Given the description of an element on the screen output the (x, y) to click on. 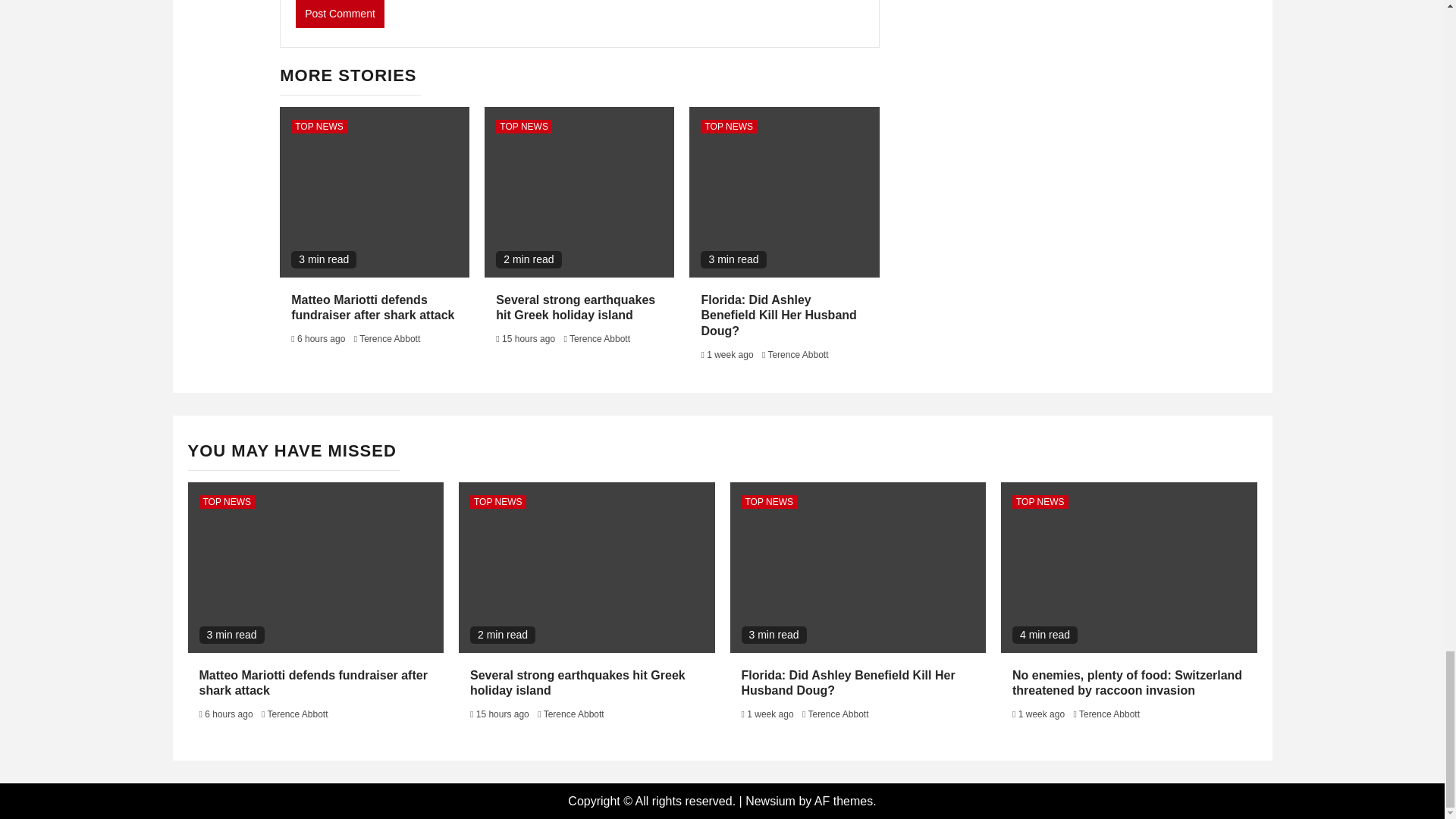
Matteo Mariotti defends fundraiser after shark attack (372, 307)
Post Comment (339, 13)
Post Comment (339, 13)
TOP NEWS (319, 126)
Terence Abbott (389, 338)
